Given the description of an element on the screen output the (x, y) to click on. 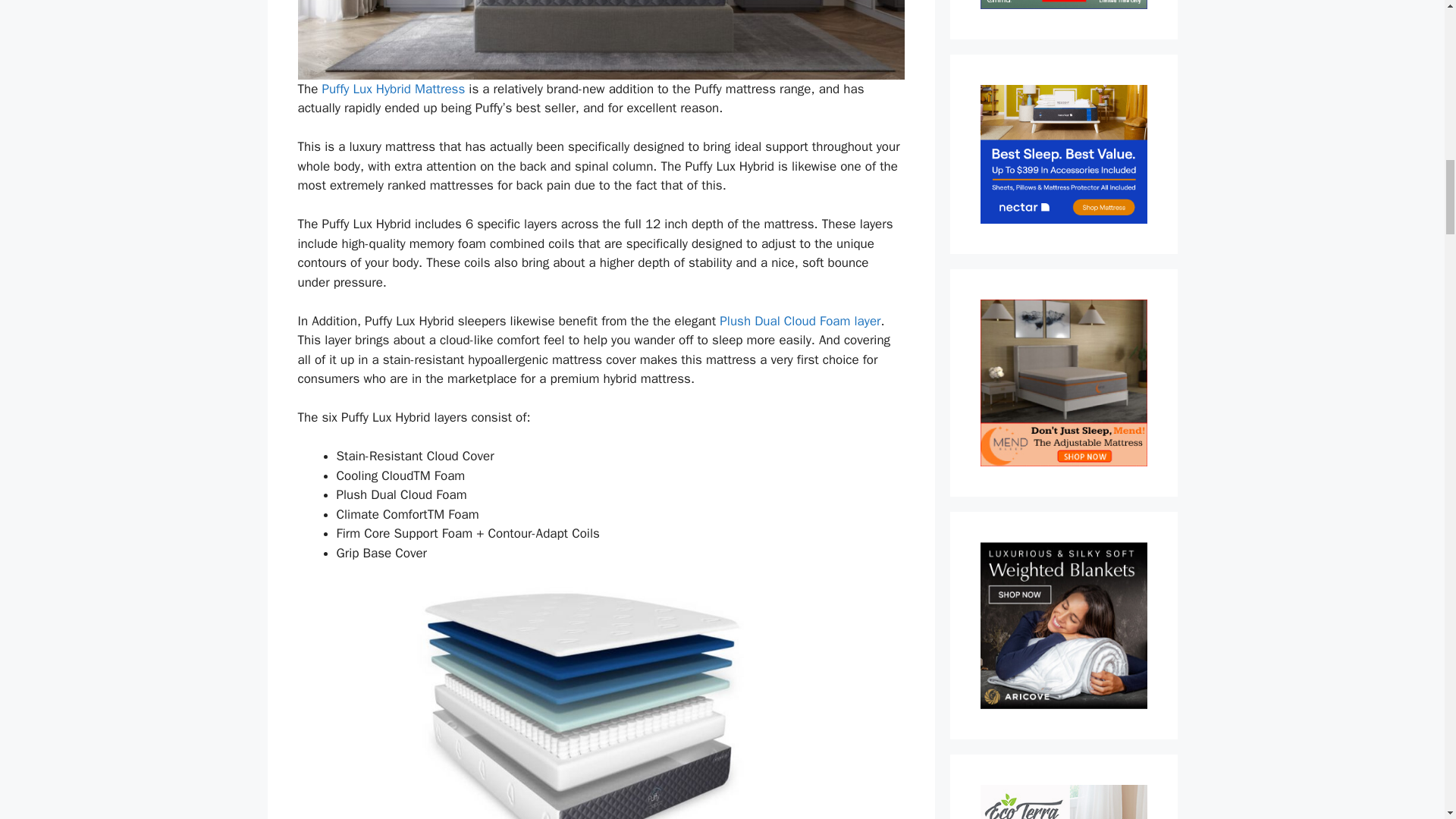
Plush Dual Cloud Foam layer (799, 320)
Puffy Lux Hybrid Mattress (392, 89)
